Given the description of an element on the screen output the (x, y) to click on. 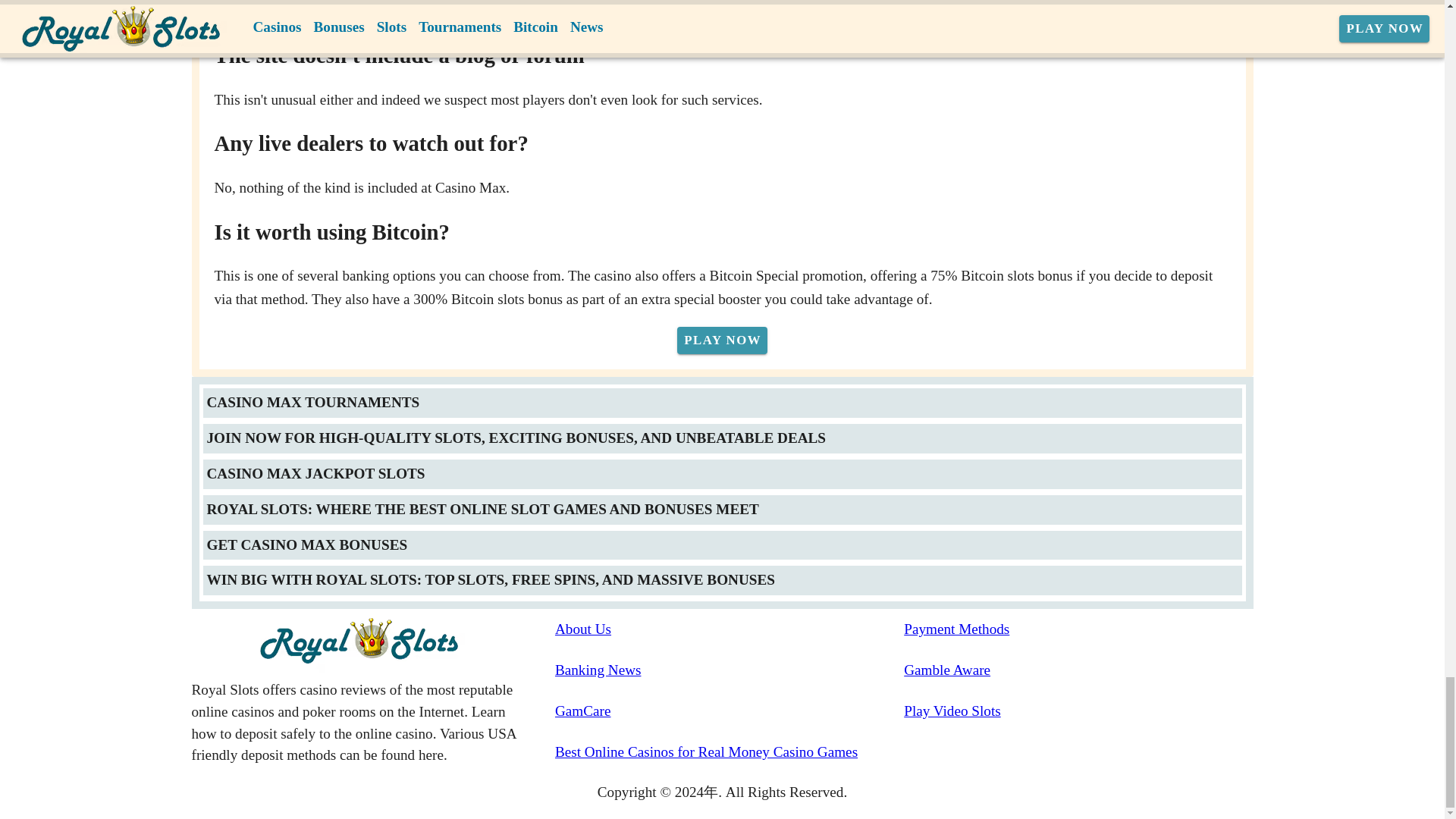
Payment Methods (1078, 629)
About Us (729, 629)
Play Video Slots (1078, 711)
Best Online Casinos for Real Money Casino Games (729, 752)
GamCare (729, 711)
Gamble Aware (1078, 670)
Banking News (729, 670)
PLAY NOW (722, 339)
